Given the description of an element on the screen output the (x, y) to click on. 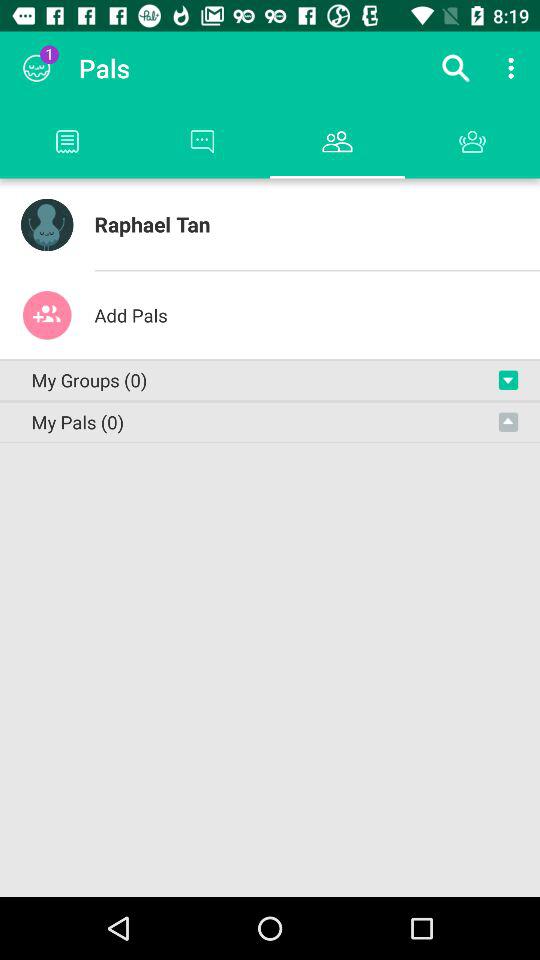
launch the item to the right of pals app (455, 67)
